Given the description of an element on the screen output the (x, y) to click on. 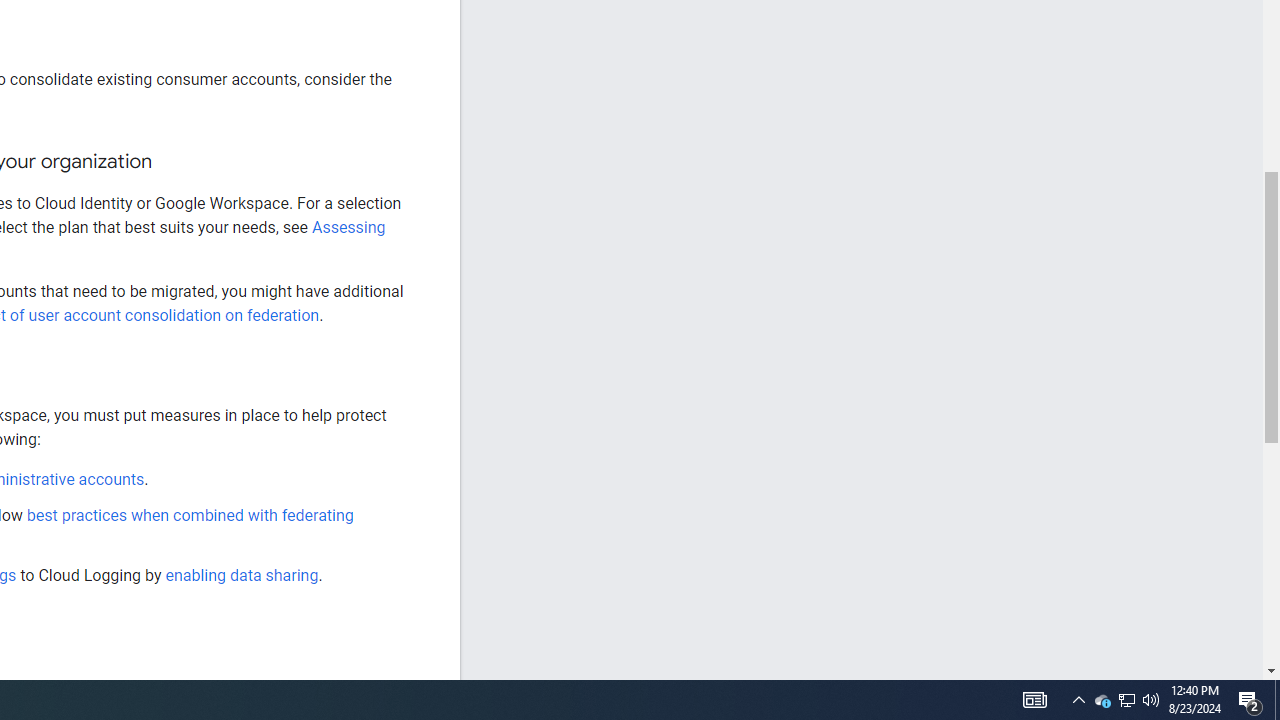
enabling data sharing (241, 574)
